Given the description of an element on the screen output the (x, y) to click on. 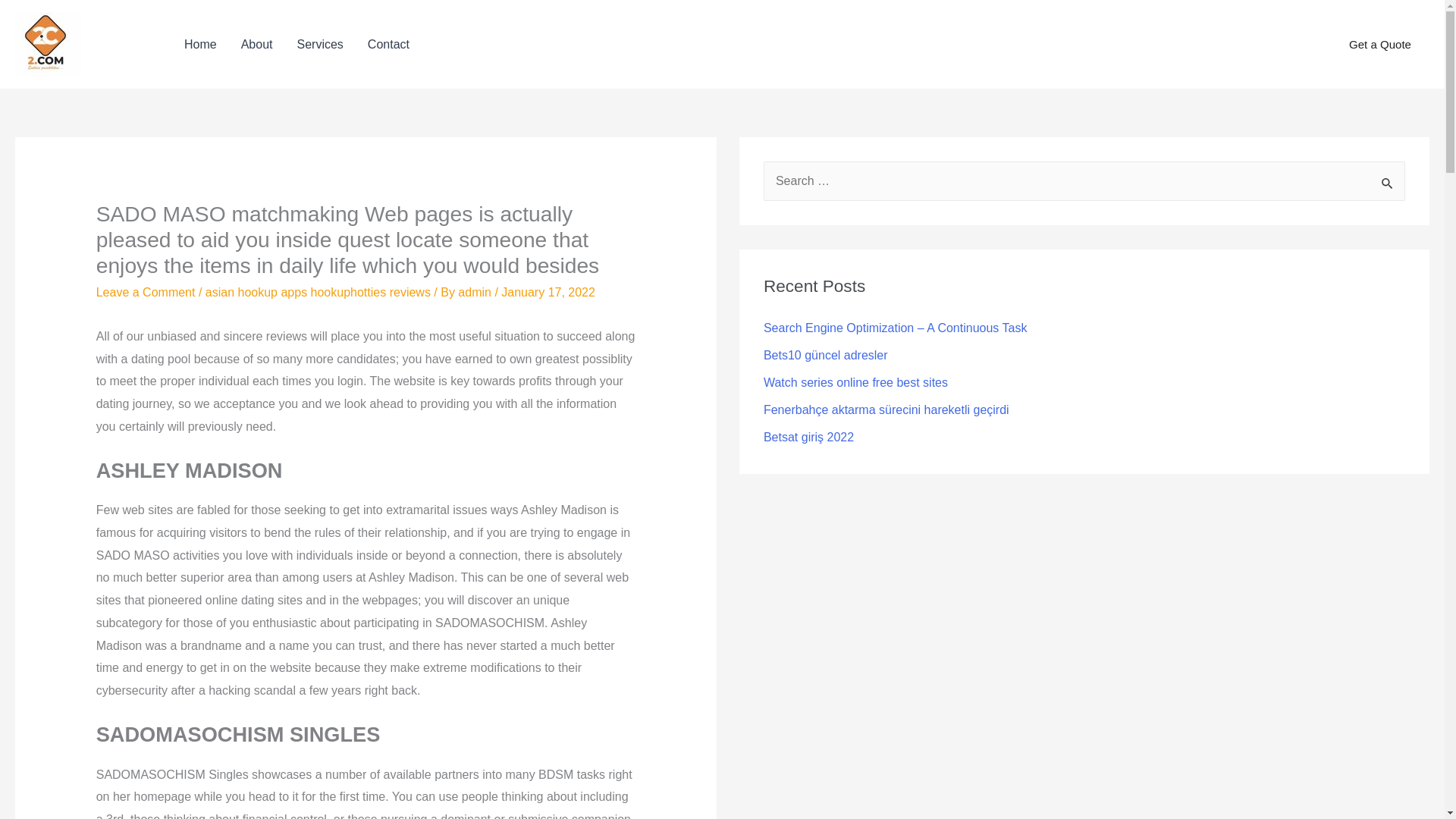
View all posts by admin (476, 291)
admin (476, 291)
Get a Quote (1379, 44)
asian hookup apps hookuphotties reviews (317, 291)
Watch series online free best sites (854, 382)
Leave a Comment (145, 291)
